Given the description of an element on the screen output the (x, y) to click on. 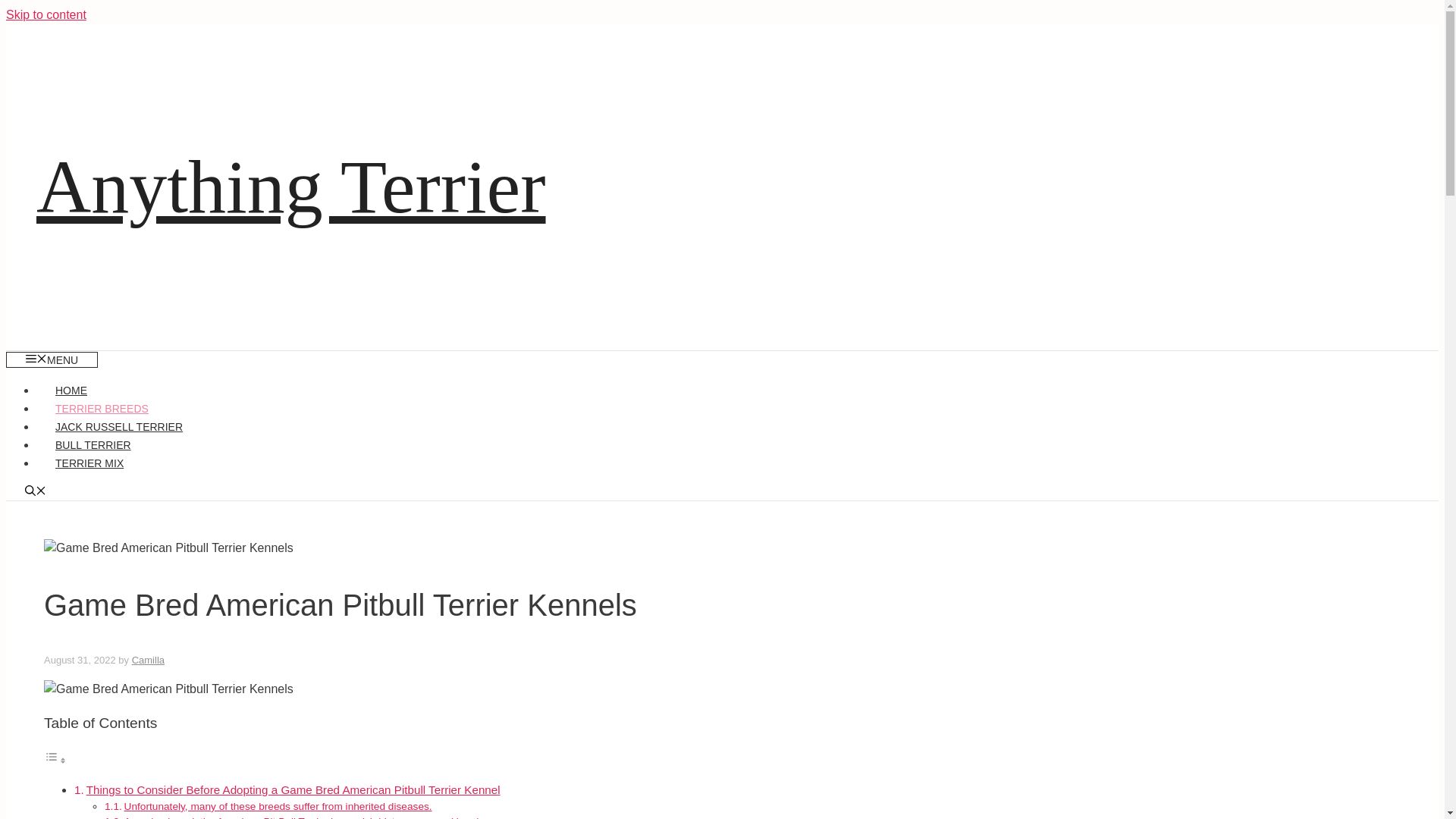
HOME (71, 390)
Anything Terrier (291, 186)
TERRIER MIX (89, 463)
BULL TERRIER (92, 444)
Skip to content (45, 14)
Skip to content (45, 14)
MENU (51, 359)
Camilla (148, 659)
JACK RUSSELL TERRIER (119, 426)
